Given the description of an element on the screen output the (x, y) to click on. 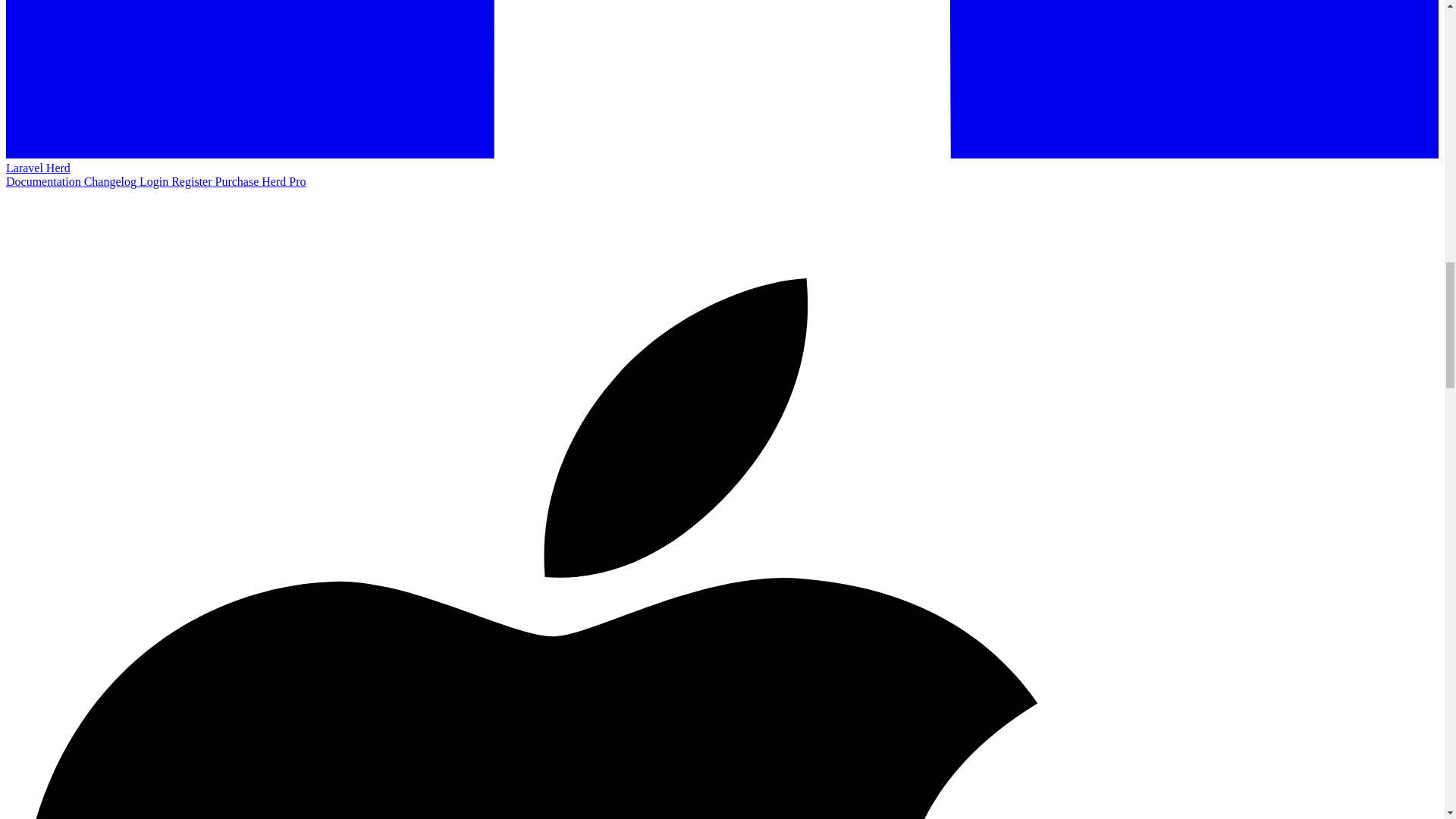
Documentation (44, 181)
Purchase Herd Pro (260, 181)
Register (192, 181)
Login (155, 181)
Changelog (111, 181)
